Given the description of an element on the screen output the (x, y) to click on. 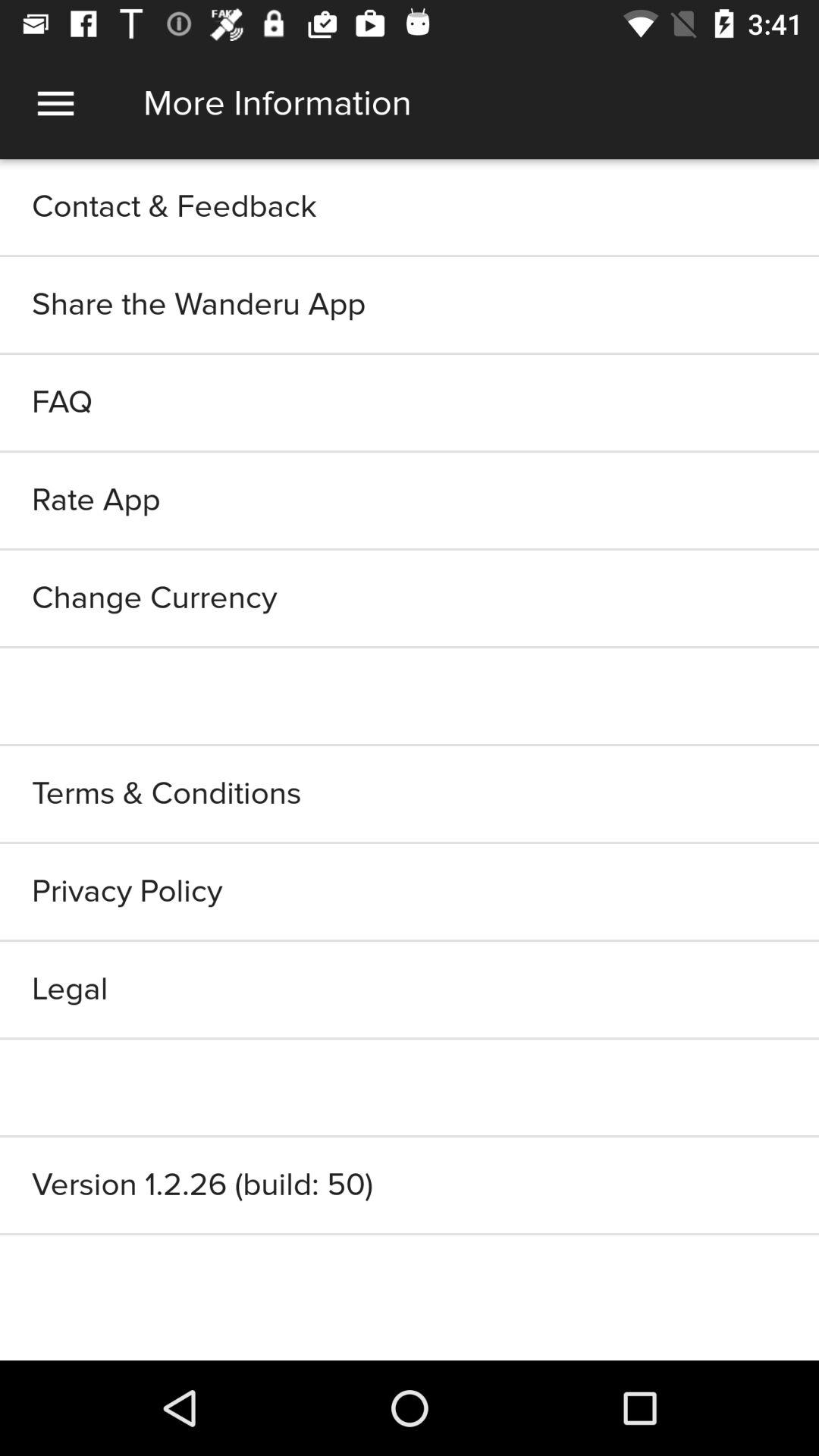
open menu bar (55, 103)
